Given the description of an element on the screen output the (x, y) to click on. 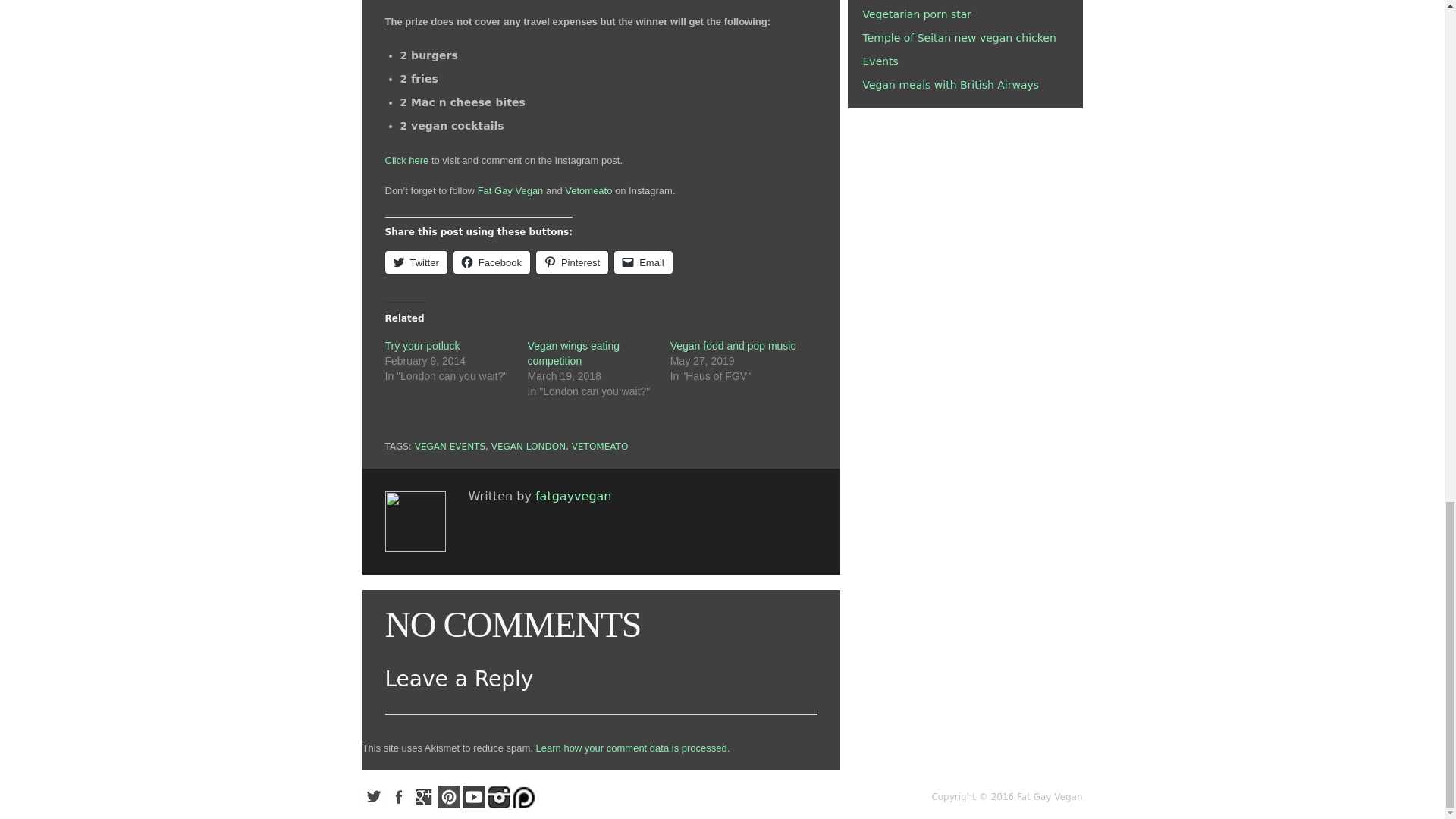
VETOMEATO (600, 446)
Vegan food and pop music (732, 345)
Pinterest (571, 261)
Click here (407, 160)
Vegan wings eating competition (573, 352)
Vegan food and pop music (732, 345)
Vegan wings eating competition (573, 352)
Click to share on Twitter (415, 261)
Learn how your comment data is processed (630, 747)
Twitter (415, 261)
Try your potluck (422, 345)
Click to share on Facebook (490, 261)
Fat Gay Vegan (510, 190)
Email (643, 261)
